Given the description of an element on the screen output the (x, y) to click on. 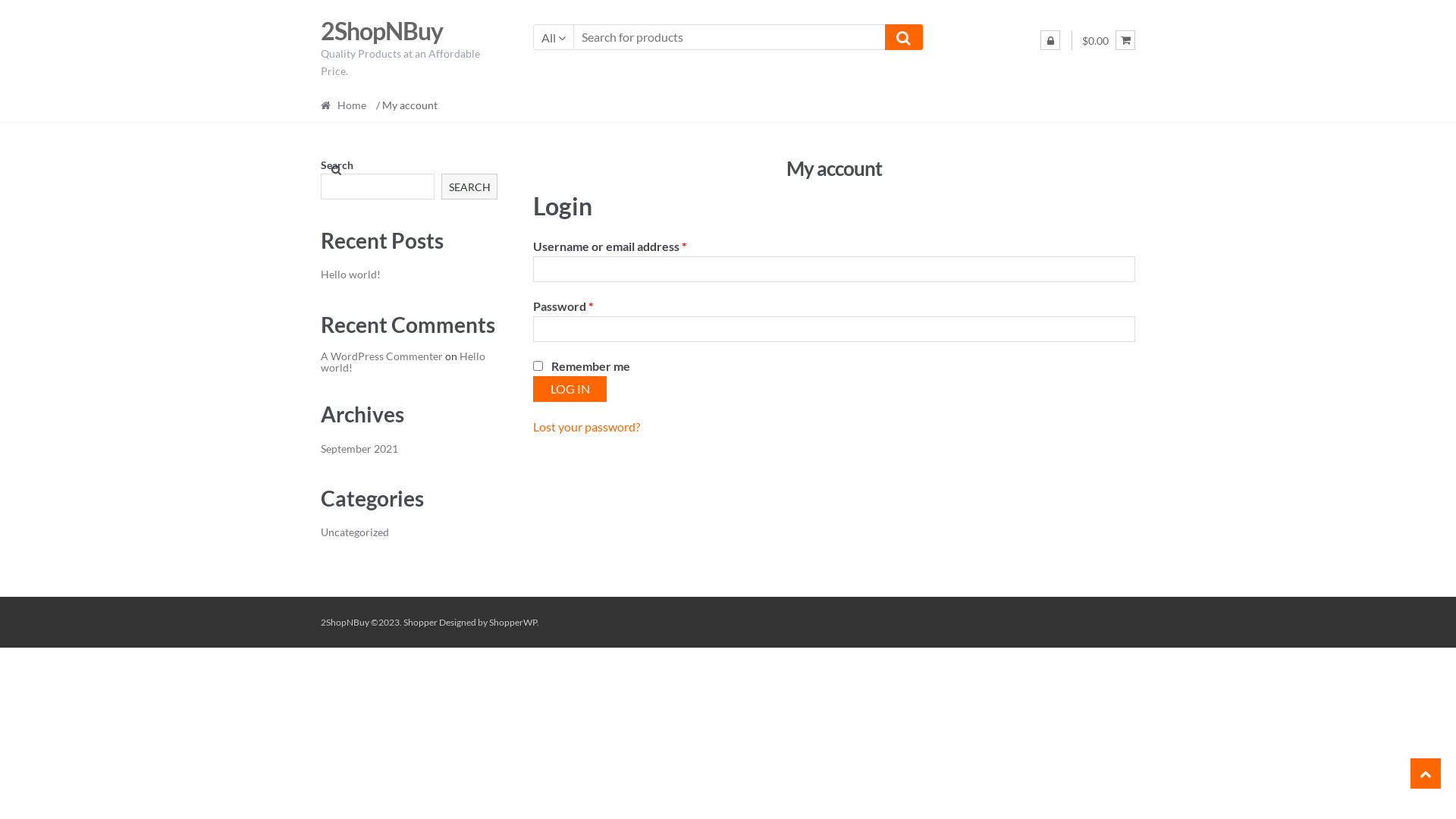
Login / Register Element type: hover (1050, 40)
Shopper Element type: text (420, 621)
September 2021 Element type: text (359, 448)
ShopperWP Element type: text (512, 621)
$0.00 Element type: text (1108, 41)
Uncategorized Element type: text (354, 531)
LOG IN Element type: text (569, 388)
Hello world! Element type: text (350, 273)
Home Element type: text (346, 104)
A WordPress Commenter Element type: text (381, 355)
SEARCH Element type: text (469, 186)
2ShopNBuy Element type: text (381, 30)
Lost your password? Element type: text (586, 426)
Hello world! Element type: text (402, 361)
